Given the description of an element on the screen output the (x, y) to click on. 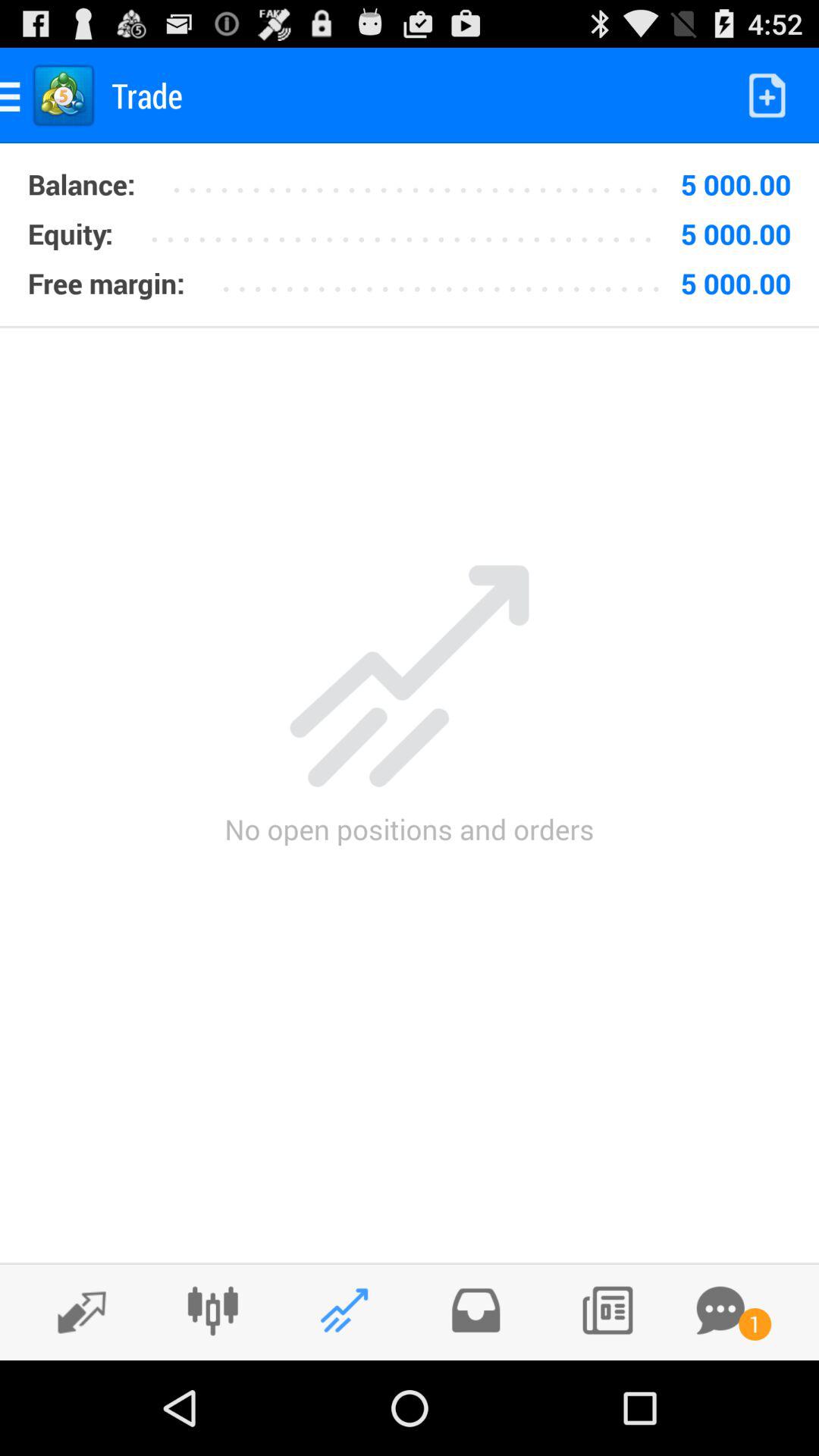
jump to balance: item (81, 184)
